Given the description of an element on the screen output the (x, y) to click on. 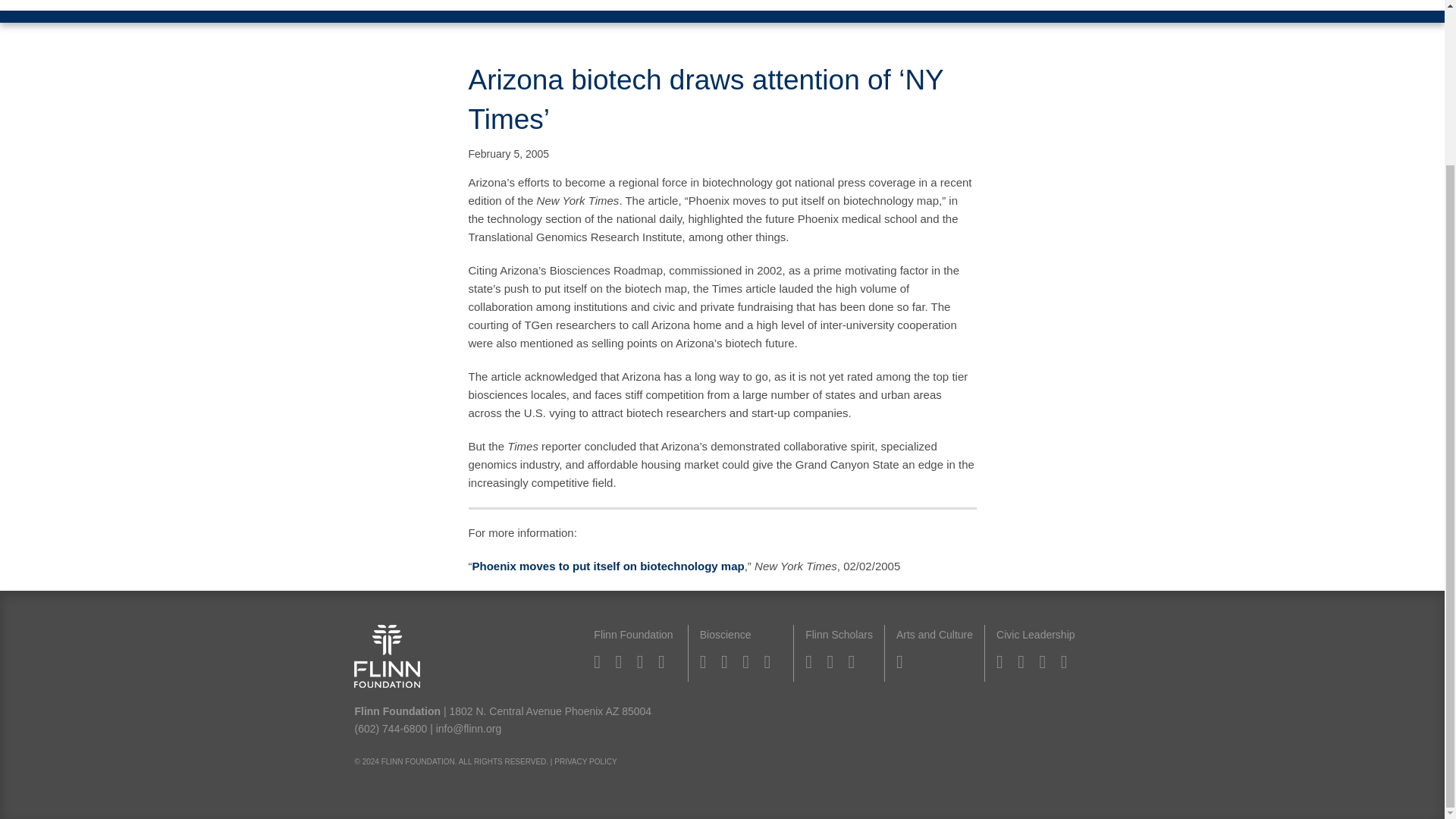
Opens in new tab (607, 565)
BIOSCIENCE (448, 5)
